Given the description of an element on the screen output the (x, y) to click on. 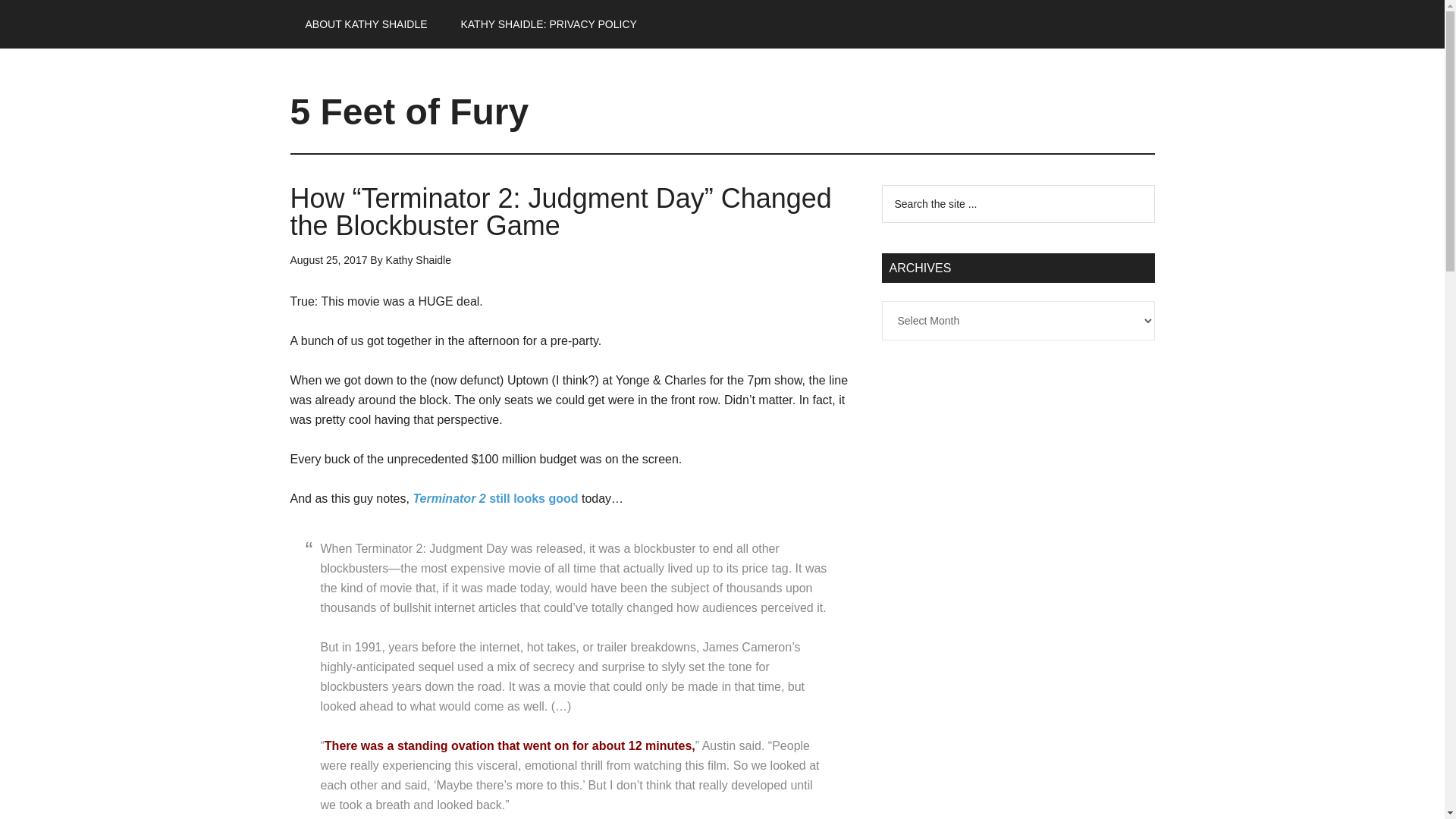
KATHY SHAIDLE: PRIVACY POLICY (547, 24)
Terminator 2 still looks good (495, 498)
ABOUT KATHY SHAIDLE (365, 24)
Kathy Shaidle (418, 259)
5 Feet of Fury (408, 111)
